Given the description of an element on the screen output the (x, y) to click on. 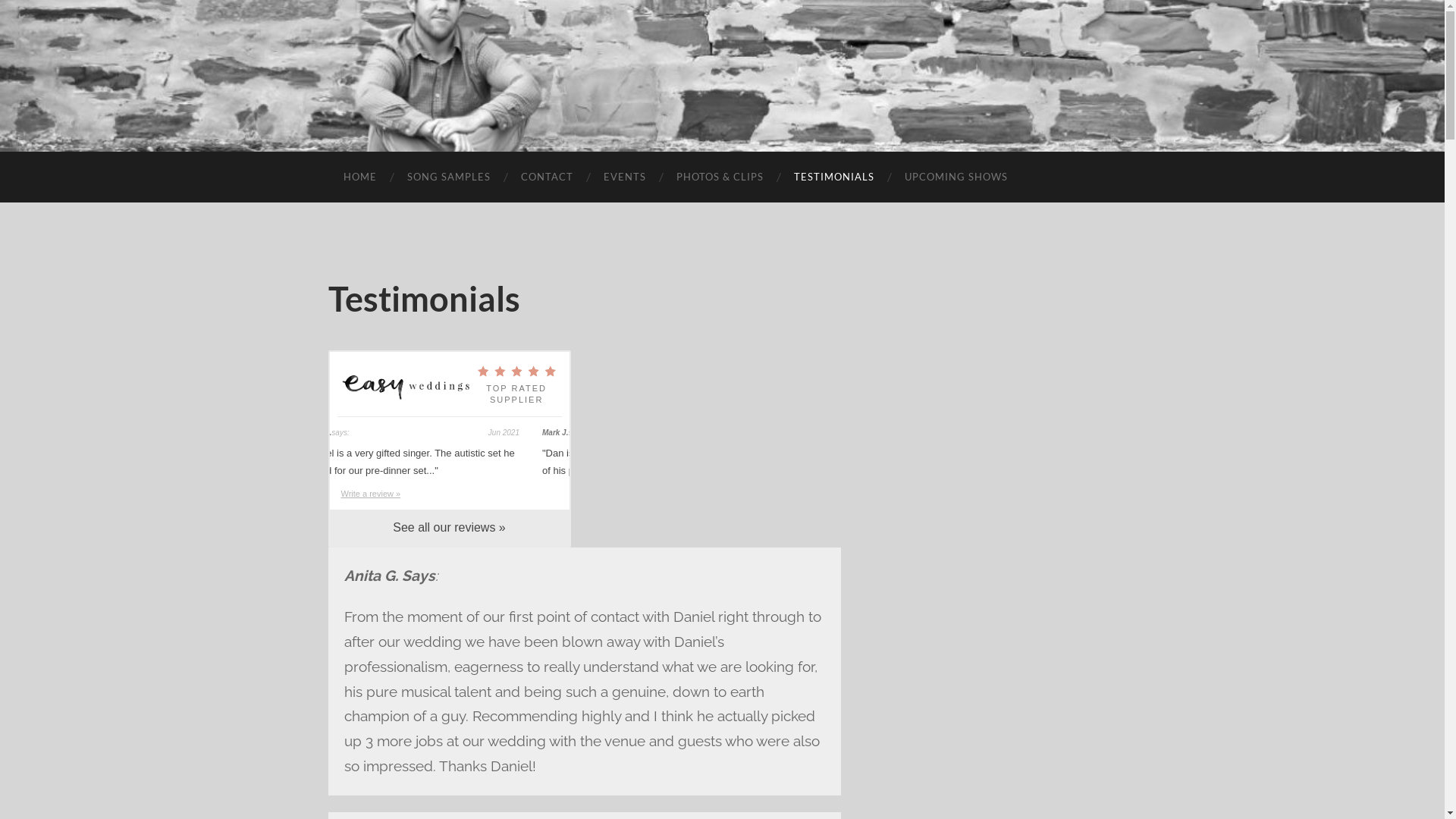
www.easyweddings.com.au Element type: hover (406, 386)
SONG SAMPLES Element type: text (448, 176)
YouTube player Element type: hover (1007, 638)
PHOTOS & CLIPS Element type: text (719, 176)
Stars Element type: hover (516, 371)
YouTube player Element type: hover (1007, 503)
HOME Element type: text (359, 176)
CONTACT Element type: text (546, 176)
TESTIMONIALS Element type: text (833, 176)
UPCOMING SHOWS Element type: text (955, 176)
YouTube player Element type: hover (1007, 369)
EVENTS Element type: text (624, 176)
